Given the description of an element on the screen output the (x, y) to click on. 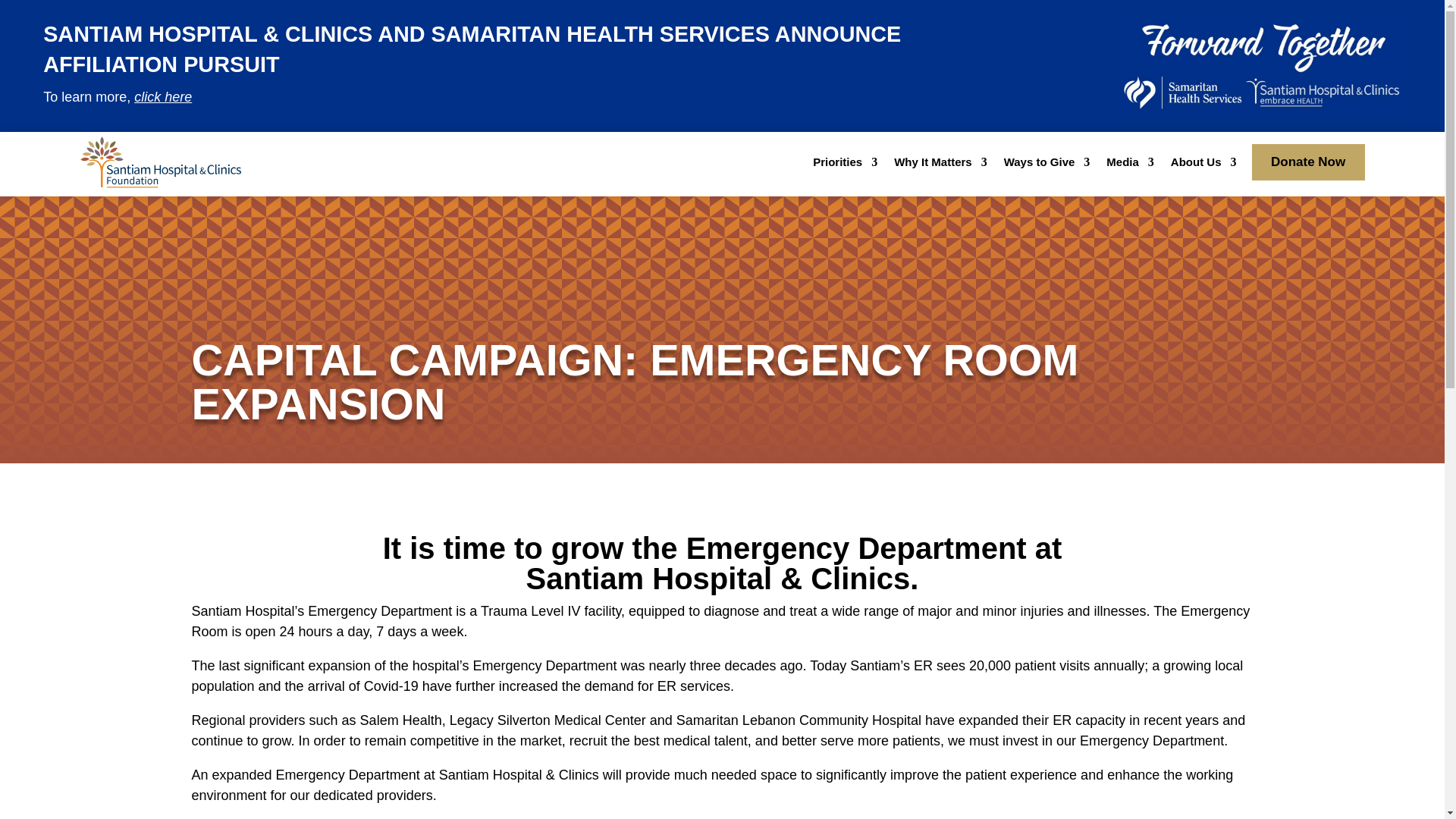
click here (162, 96)
About Us (1203, 165)
Why It Matters (940, 165)
Media (1130, 165)
Ways to Give (1047, 165)
Priorities (844, 165)
